Given the description of an element on the screen output the (x, y) to click on. 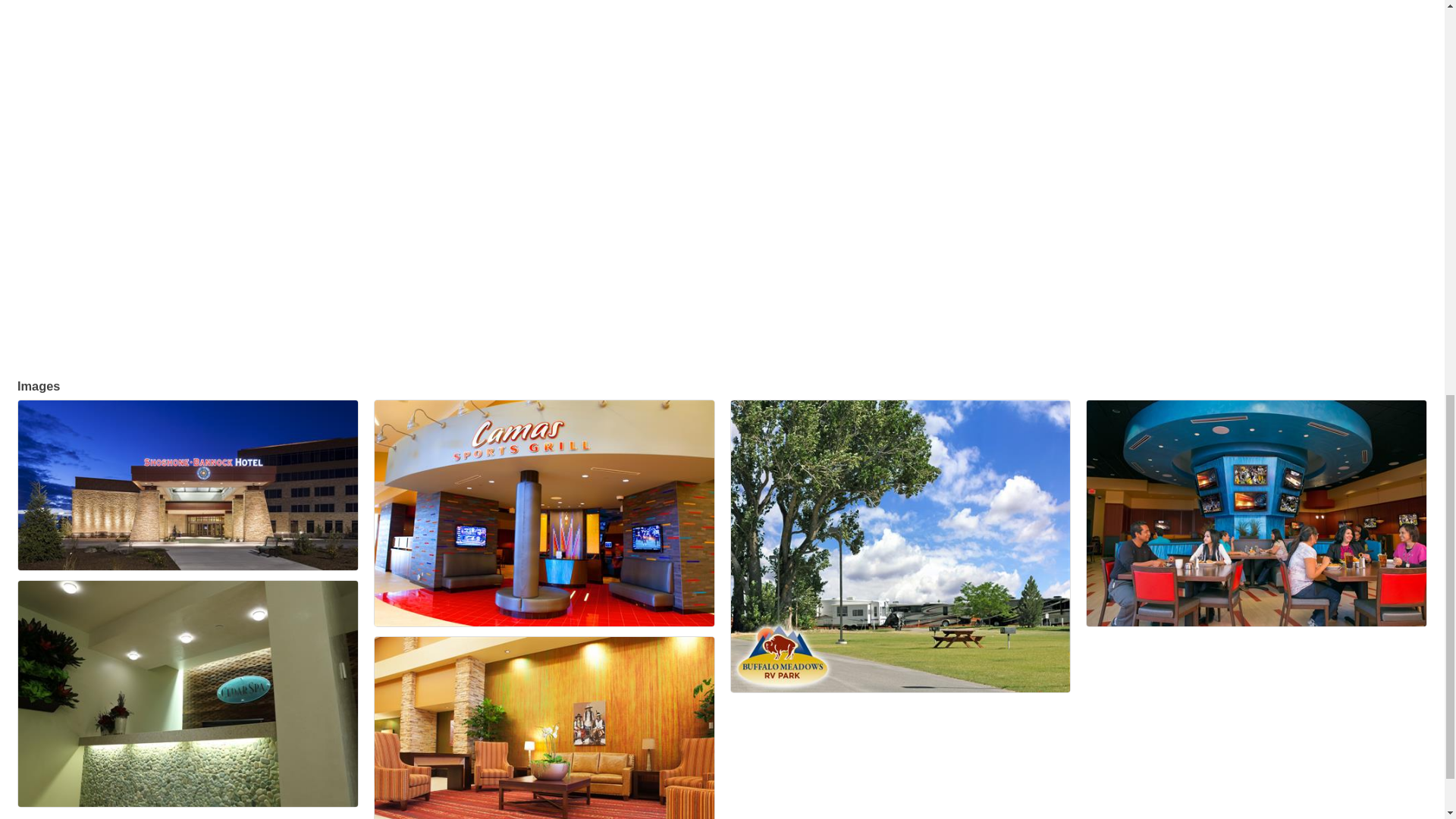
Buffalo Meadows RV Park (900, 546)
Hotel Lobby (544, 728)
Cedar Spa Front Desk (187, 693)
Camas Grill (1256, 513)
Camas Grill (544, 513)
